Given the description of an element on the screen output the (x, y) to click on. 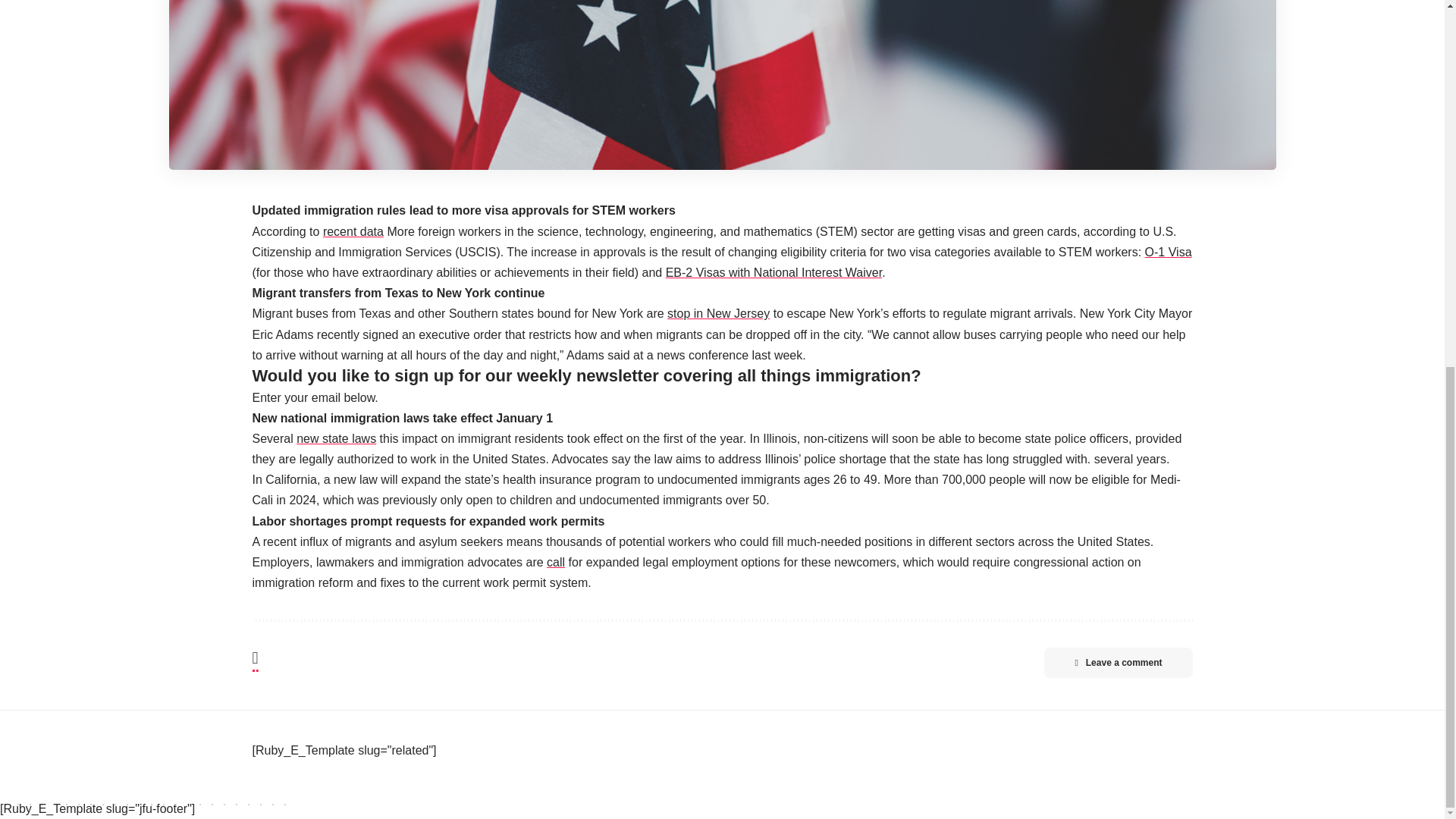
stop in New Jersey (718, 313)
new state laws (336, 438)
O-1 Visa (1168, 251)
call (555, 562)
recent data (353, 231)
Leave a comment (1117, 662)
EB-2 Visas with National Interest Waiver (773, 272)
